Given the description of an element on the screen output the (x, y) to click on. 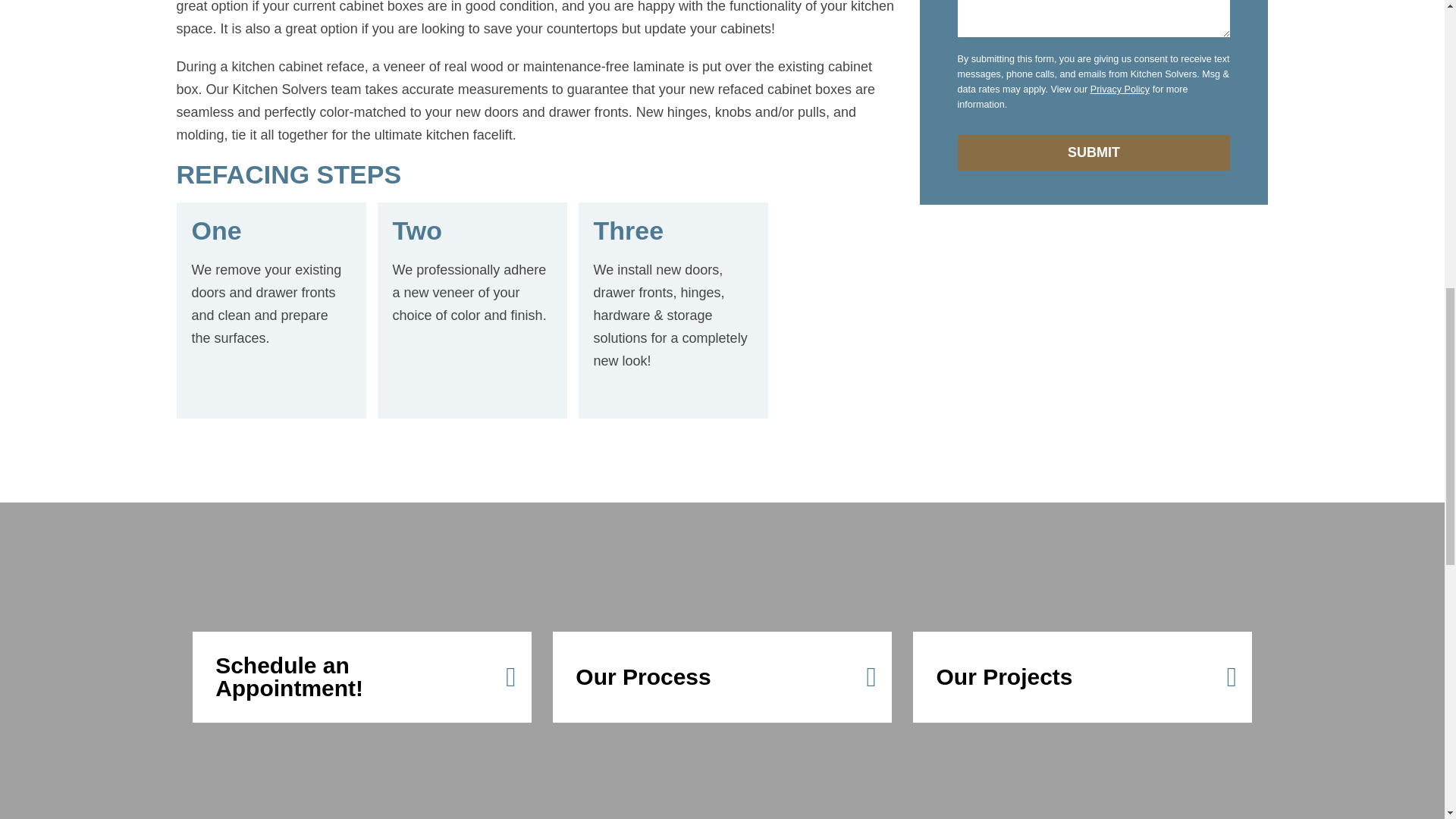
Privacy Policy (1120, 89)
Our Projects (1081, 675)
Our Process (722, 675)
Submit (1093, 152)
Submit (1093, 152)
Schedule an Appointment! (361, 675)
